Given the description of an element on the screen output the (x, y) to click on. 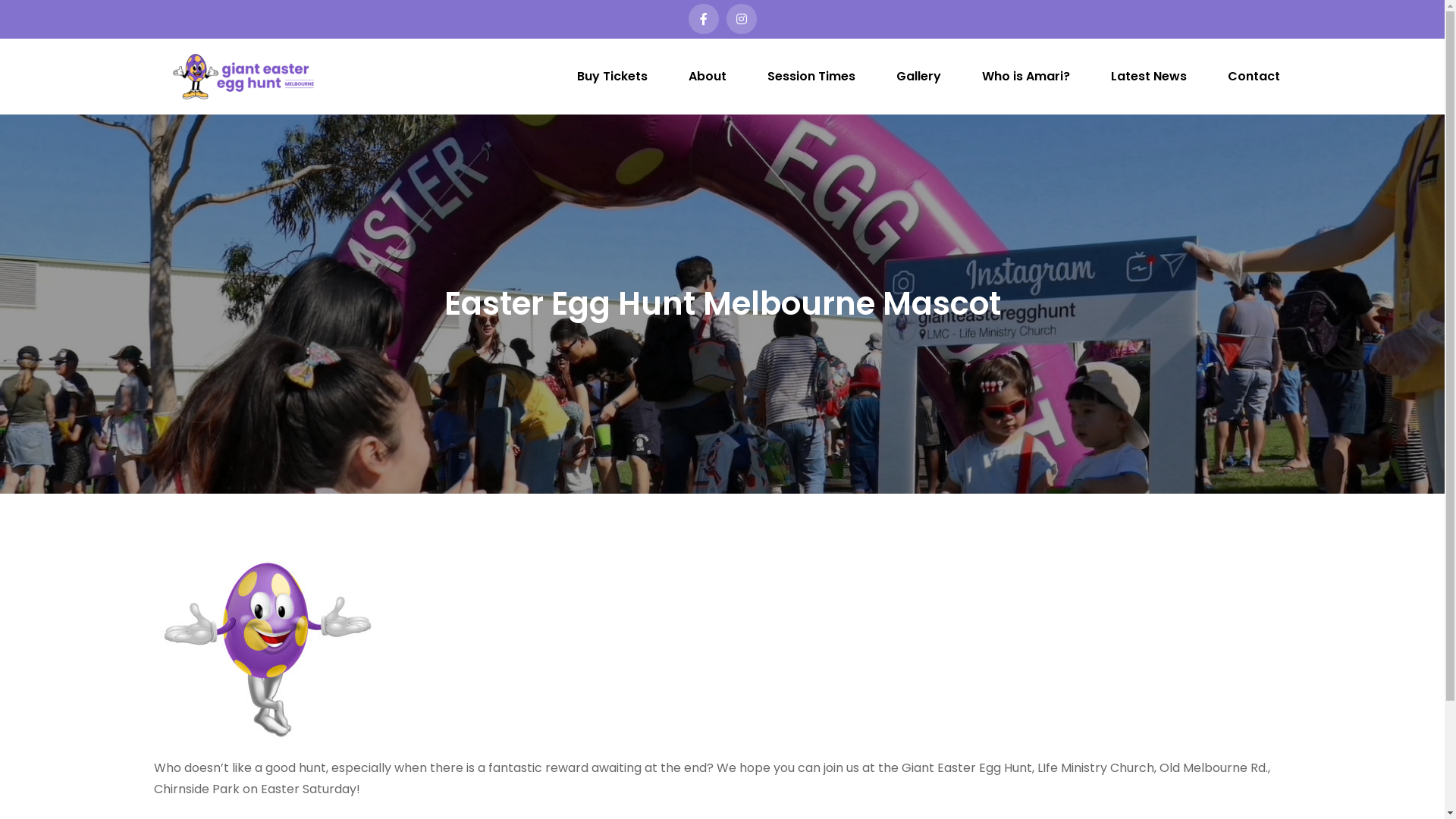
Gallery Element type: text (918, 76)
Buy Tickets Element type: text (611, 76)
Latest News Element type: text (1148, 76)
Session Times Element type: text (811, 76)
Who is Amari? Element type: text (1025, 76)
Contact Element type: text (1252, 76)
About Element type: text (707, 76)
